Given the description of an element on the screen output the (x, y) to click on. 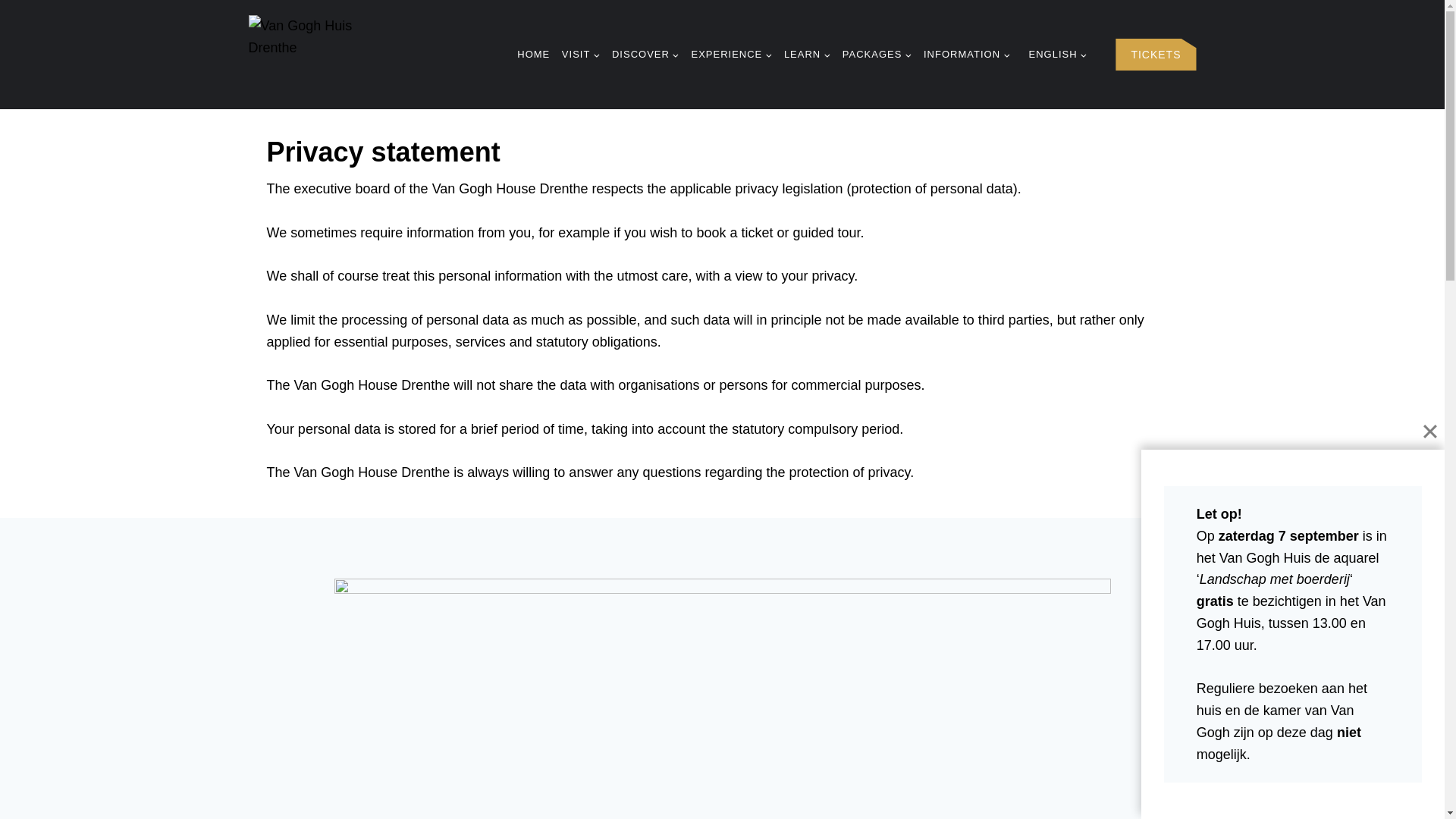
LEARN (806, 53)
VISIT (580, 53)
INFORMATION (966, 53)
English (1054, 53)
DISCOVER (645, 53)
HOME (533, 53)
PACKAGES (876, 53)
EXPERIENCE (731, 53)
